Given the description of an element on the screen output the (x, y) to click on. 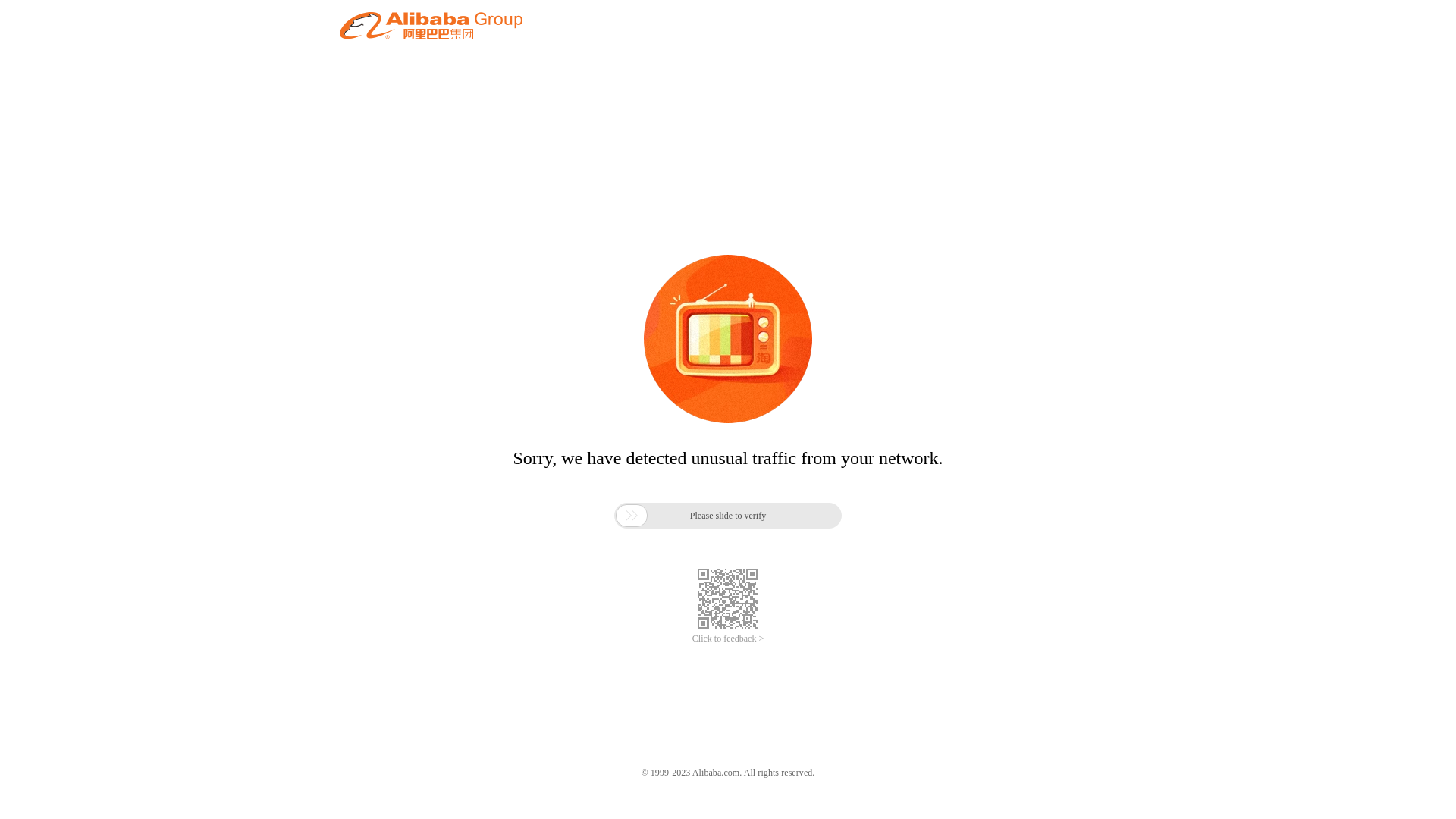
Click to feedback > Element type: text (727, 638)
